Given the description of an element on the screen output the (x, y) to click on. 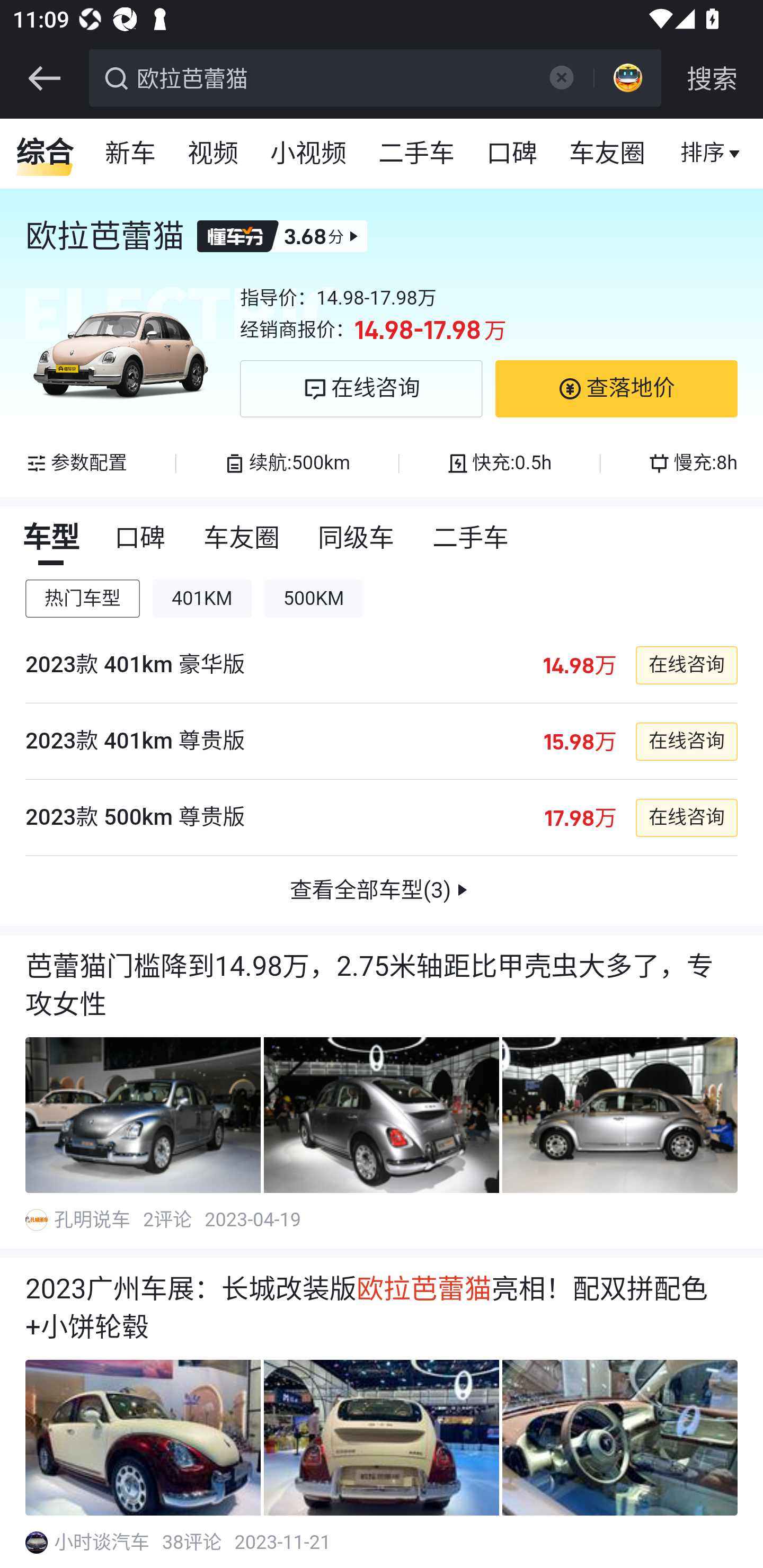
欧拉芭蕾猫 (331, 76)
 (560, 77)
 (44, 78)
搜索 (711, 78)
综合 (44, 153)
新车 (131, 153)
视频 (213, 153)
小视频 (308, 153)
二手车 (417, 153)
口碑 (512, 153)
车友圈 (608, 153)
直播 (703, 153)
3.68 分 (281, 236)
经销商报价： 14.98-17.98 万 (488, 330)
在线咨询 查落地价 (488, 388)
在线咨询 (361, 388)
查落地价 (615, 388)
参数配置 (76, 463)
续航:500km (286, 463)
快充:0.5h (498, 463)
慢充:8h (692, 463)
车型 (51, 538)
口碑 (140, 538)
车友圈 (242, 538)
同级车 (357, 538)
二手车 (471, 538)
热门车型 (83, 598)
401KM (202, 598)
500KM (313, 598)
2023款 401km 豪华版 14.98万 在线咨询 (381, 665)
14.98万 (578, 664)
在线咨询 (685, 664)
2023款 401km 尊贵版 15.98万 在线咨询 (381, 741)
15.98万 (578, 741)
在线咨询 (685, 741)
2023款 500km 尊贵版 17.98万 在线咨询 (381, 817)
17.98万 (579, 817)
在线咨询 (685, 817)
查看全部车型(3) (381, 891)
芭蕾猫门槛降到14.98万，2.75米轴距比甲壳虫大多了，专攻女性 (381, 985)
孔明说车 (92, 1219)
56f59938304d94745e8c12348d7fabea~300x300 (36, 1219)
2023广州车展：长城改装版欧拉芭蕾猫亮相！配双拼配色+小饼轮毂 (381, 1308)
小时谈汽车 (102, 1542)
bb7ea0a30cb791116d6924662e0bf4a1~300x300 (36, 1542)
